Given the description of an element on the screen output the (x, y) to click on. 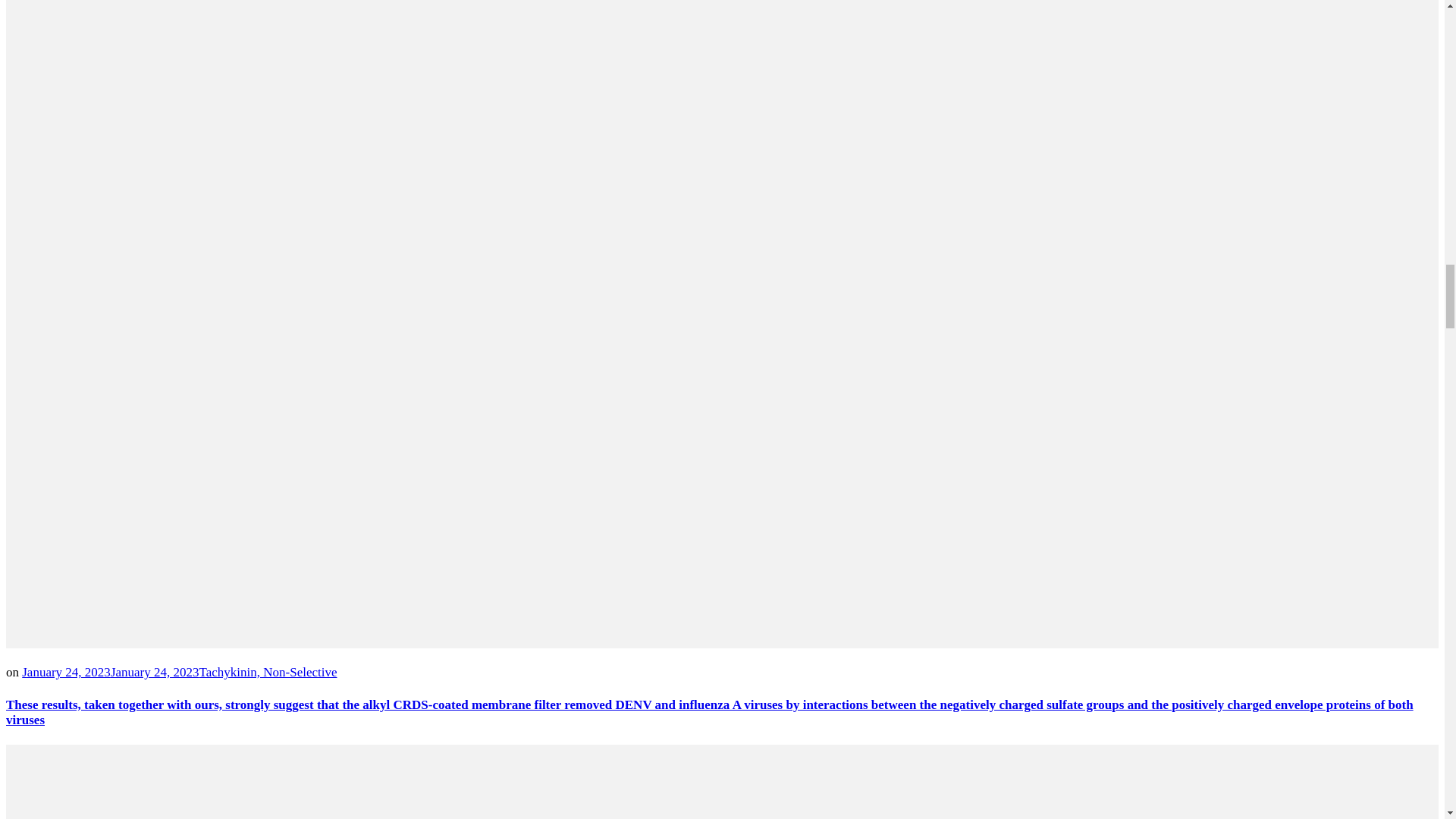
January 24, 2023January 24, 2023 (109, 672)
Tachykinin, Non-Selective (267, 672)
